Given the description of an element on the screen output the (x, y) to click on. 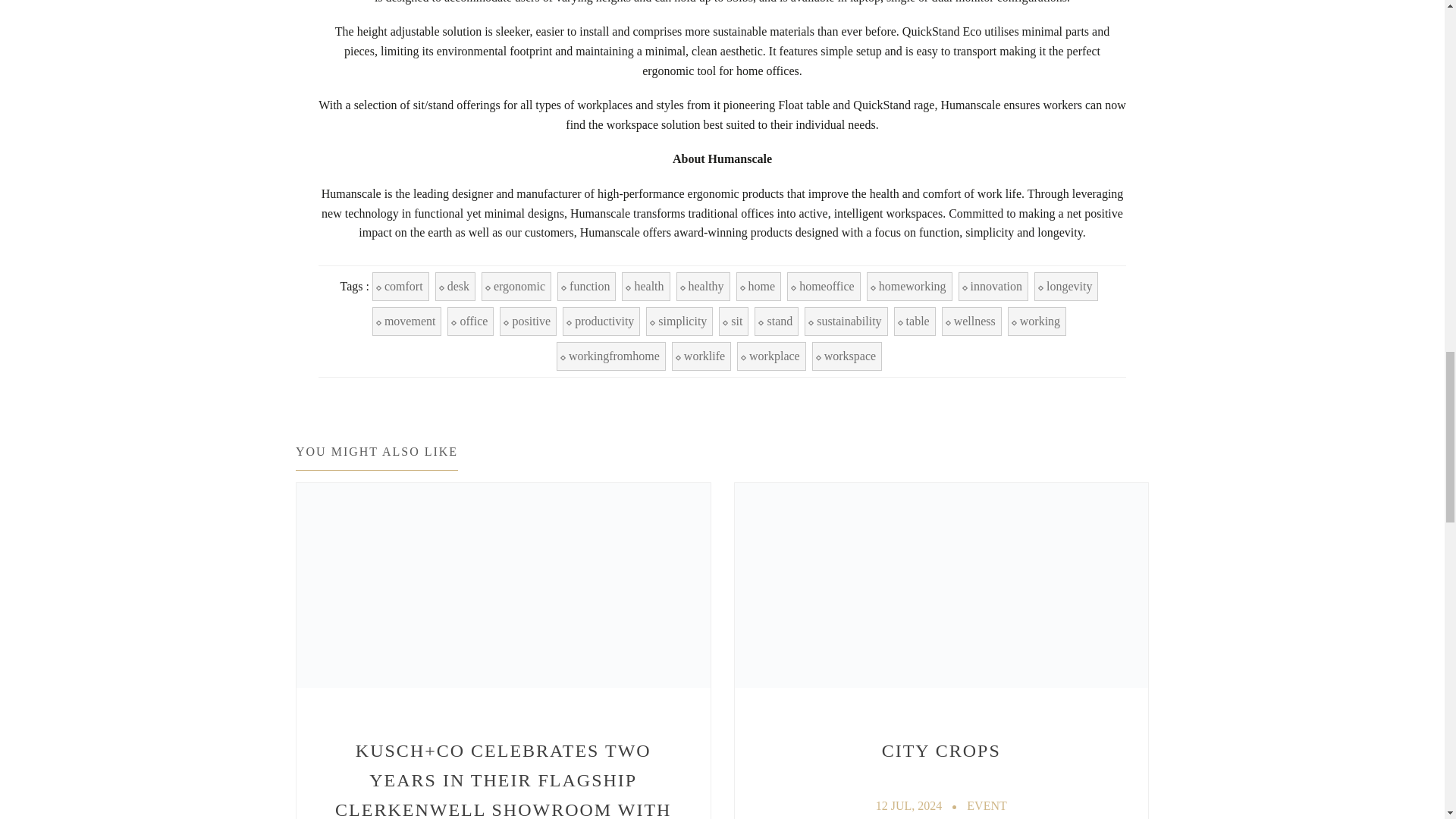
homeworking (909, 286)
longevity (1065, 286)
function (586, 286)
health (645, 286)
healthy (703, 286)
homeoffice (823, 286)
ergonomic (516, 286)
movement (407, 321)
innovation (992, 286)
comfort (400, 286)
home (758, 286)
desk (455, 286)
